Given the description of an element on the screen output the (x, y) to click on. 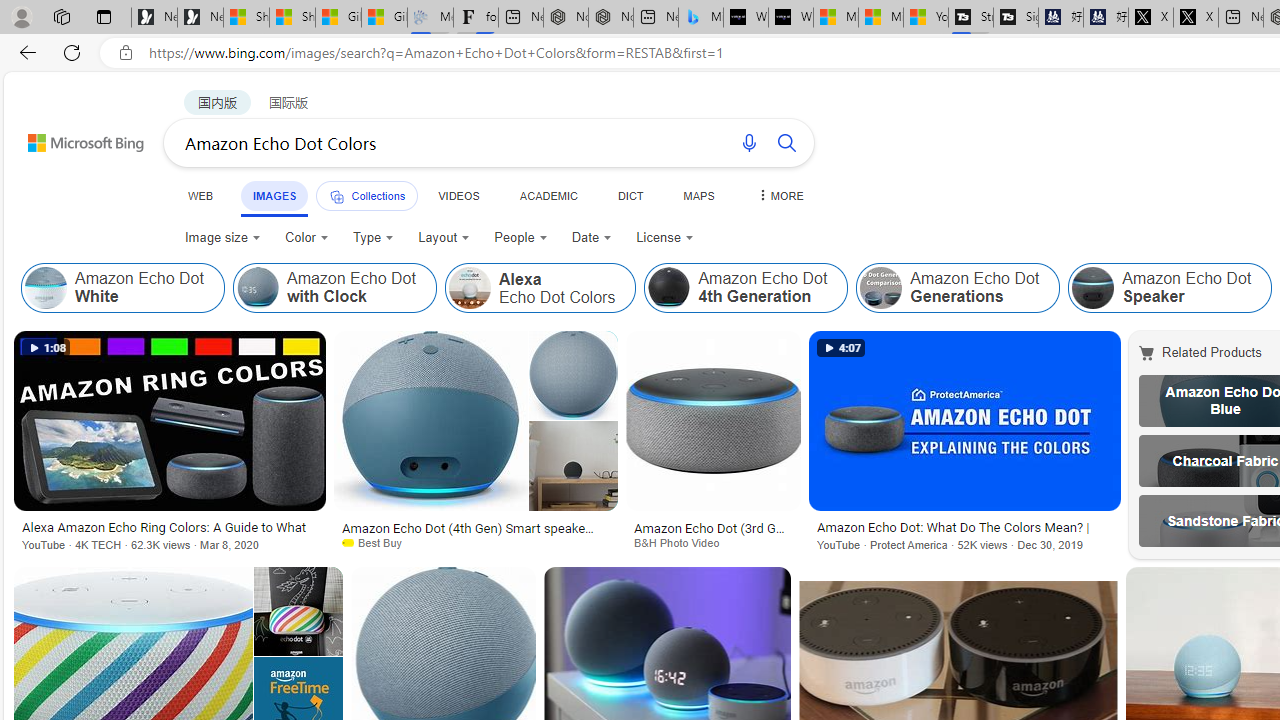
People (521, 237)
ACADEMIC (548, 195)
WEB (201, 195)
Alexa Amazon Echo Ring Colors: A Guide to What they Mean (169, 529)
Alexa Echo Dot Colors (540, 287)
1:08 (45, 348)
DICT (630, 195)
DICT (630, 195)
What's the best AI voice generator? - voice.ai (790, 17)
Amazon Echo Dot Speaker (1093, 287)
Date (591, 237)
X (1195, 17)
